Given the description of an element on the screen output the (x, y) to click on. 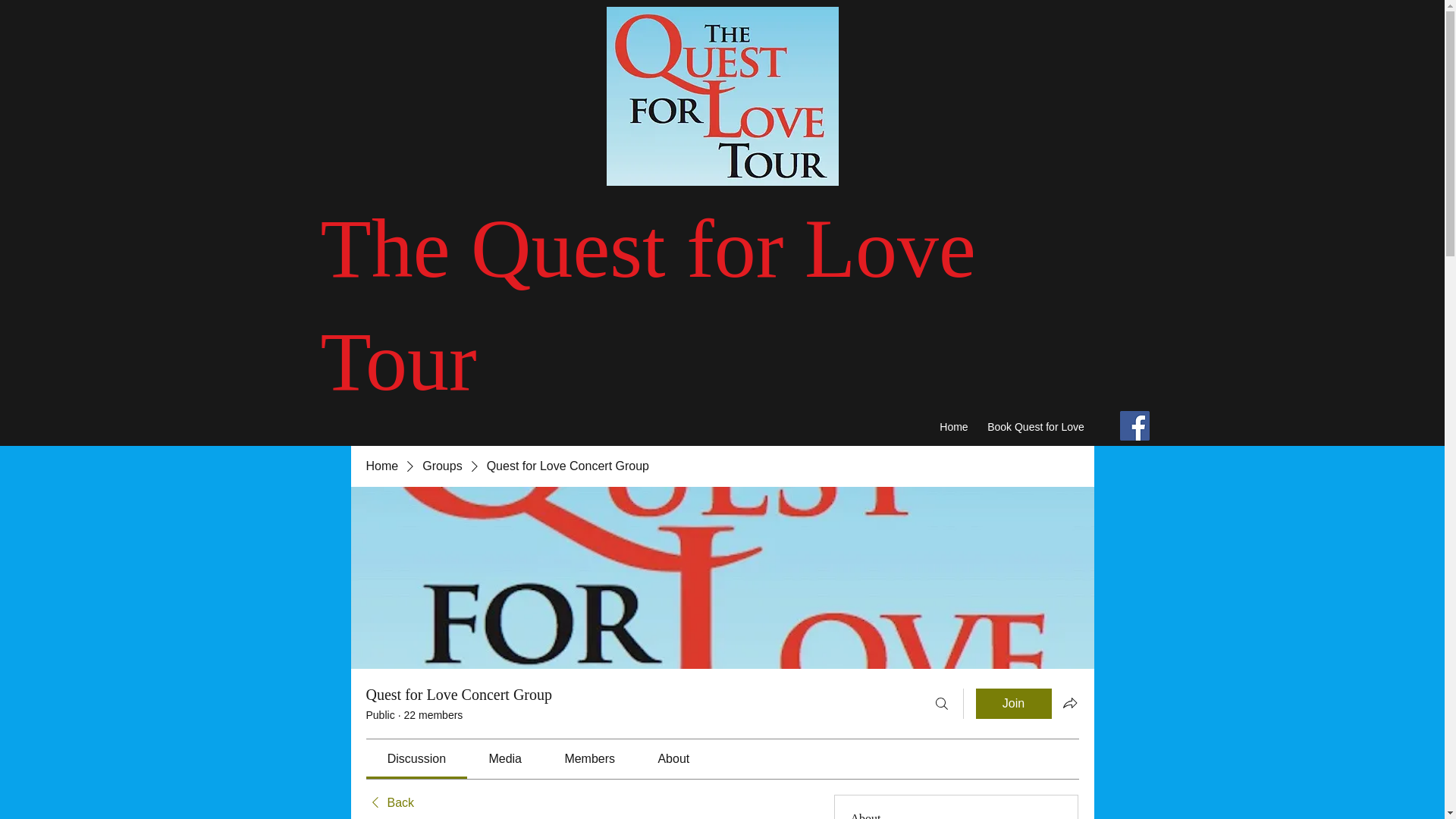
Home (953, 427)
Groups (441, 466)
Back (389, 802)
Join (1013, 703)
Home (381, 466)
Book Quest for Love (1036, 427)
